Given the description of an element on the screen output the (x, y) to click on. 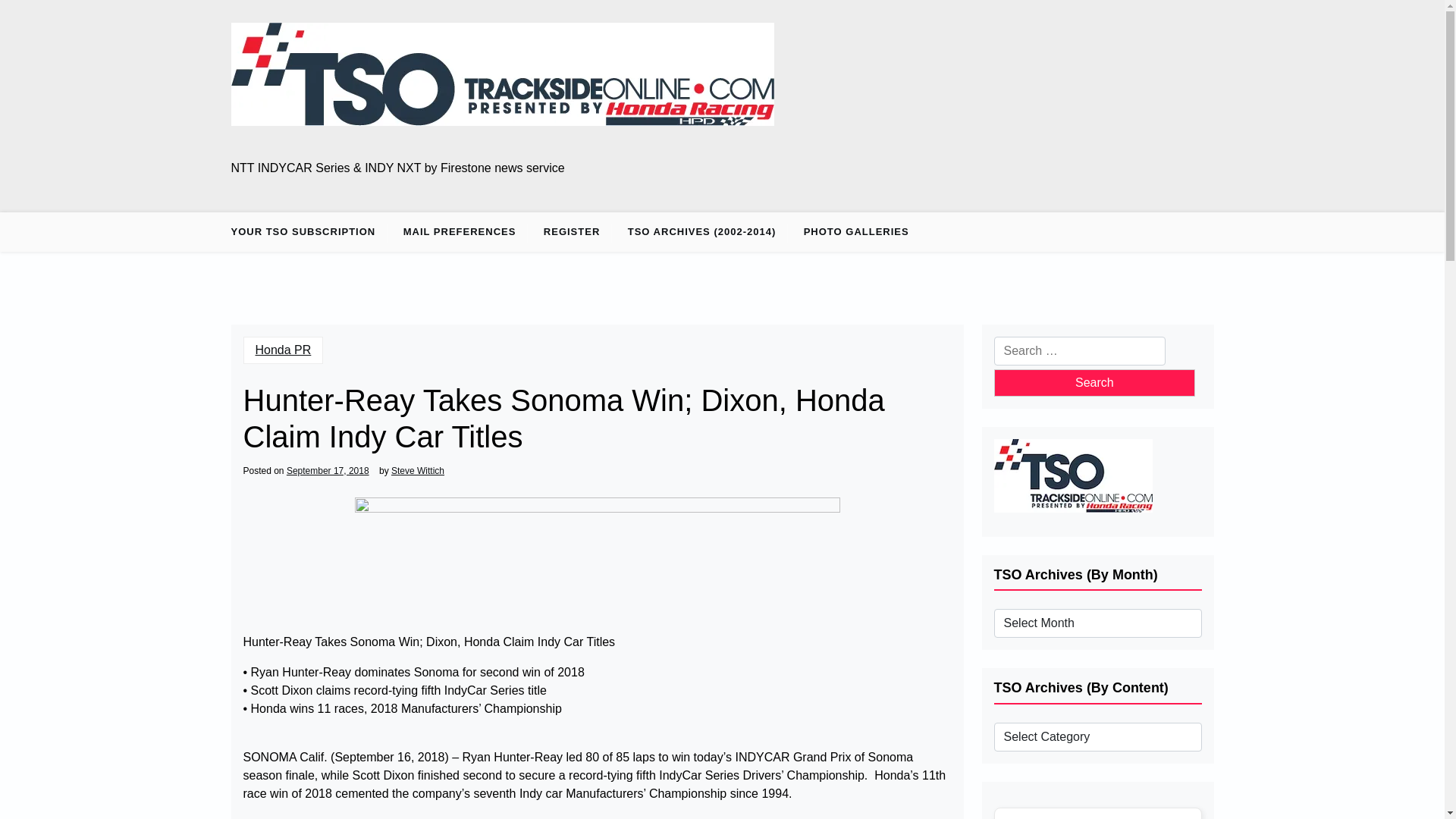
Steve Wittich (417, 470)
Honda PR (283, 349)
Search (1093, 381)
YOUR TSO SUBSCRIPTION (308, 231)
MAIL PREFERENCES (459, 231)
Search (1093, 381)
Search (1093, 381)
PHOTO GALLERIES (856, 231)
REGISTER (571, 231)
September 17, 2018 (327, 470)
